Given the description of an element on the screen output the (x, y) to click on. 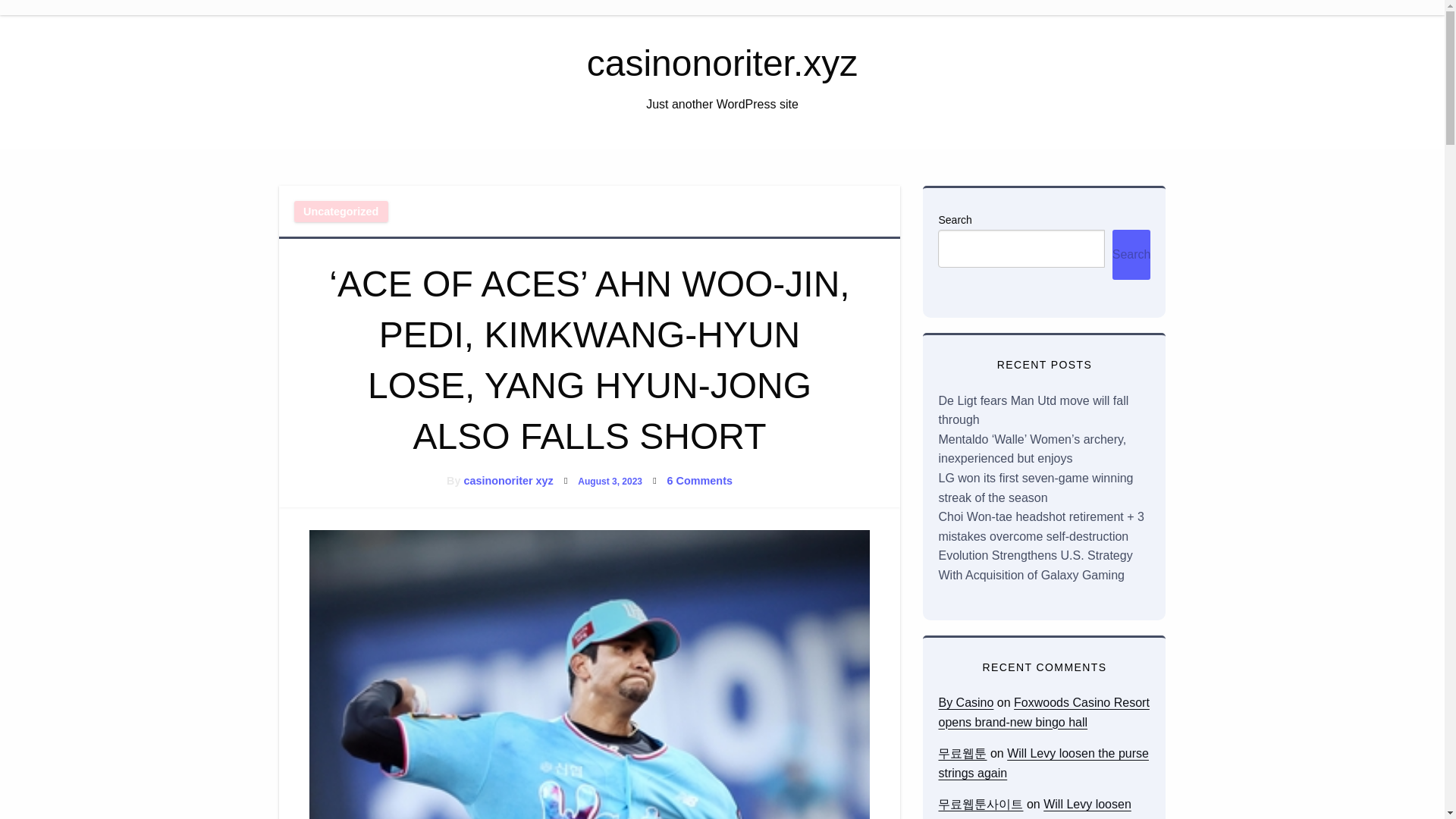
August 3, 2023 (610, 480)
casinonoriter.xyz (722, 63)
casinonoriter xyz (508, 480)
casinonoriter xyz (508, 480)
Uncategorized (341, 210)
